Given the description of an element on the screen output the (x, y) to click on. 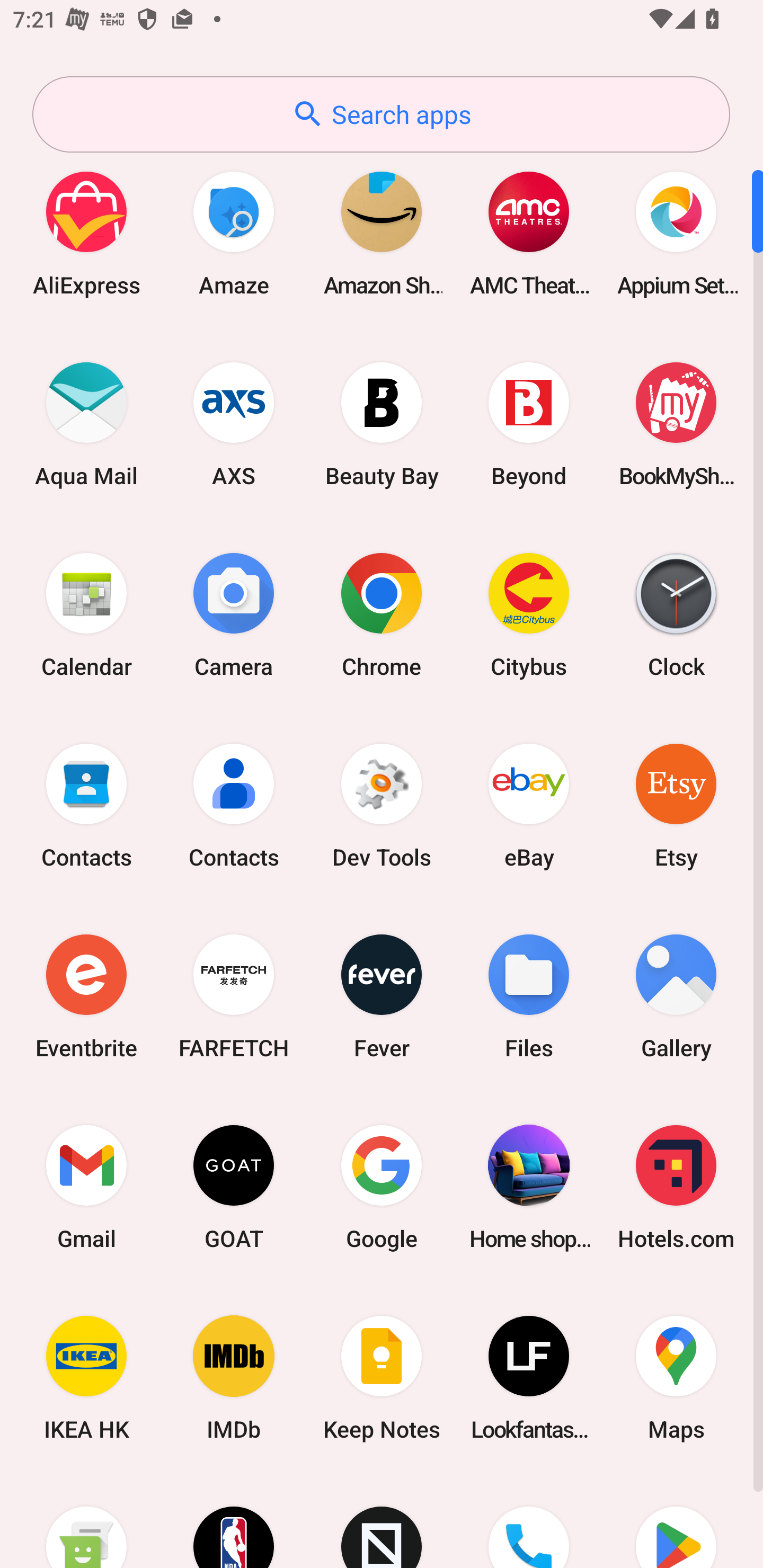
  Search apps (381, 114)
AliExpress (86, 233)
Amaze (233, 233)
Amazon Shopping (381, 233)
AMC Theatres (528, 233)
Appium Settings (676, 233)
Aqua Mail (86, 424)
AXS (233, 424)
Beauty Bay (381, 424)
Beyond (528, 424)
BookMyShow (676, 424)
Calendar (86, 614)
Camera (233, 614)
Chrome (381, 614)
Citybus (528, 614)
Clock (676, 614)
Contacts (86, 805)
Contacts (233, 805)
Dev Tools (381, 805)
eBay (528, 805)
Etsy (676, 805)
Eventbrite (86, 996)
FARFETCH (233, 996)
Fever (381, 996)
Files (528, 996)
Gallery (676, 996)
Gmail (86, 1186)
GOAT (233, 1186)
Google (381, 1186)
Home shopping (528, 1186)
Hotels.com (676, 1186)
IKEA HK (86, 1377)
IMDb (233, 1377)
Keep Notes (381, 1377)
Lookfantastic (528, 1377)
Maps (676, 1377)
Messaging (86, 1520)
NBA (233, 1520)
Novelship (381, 1520)
Phone (528, 1520)
Play Store (676, 1520)
